Given the description of an element on the screen output the (x, y) to click on. 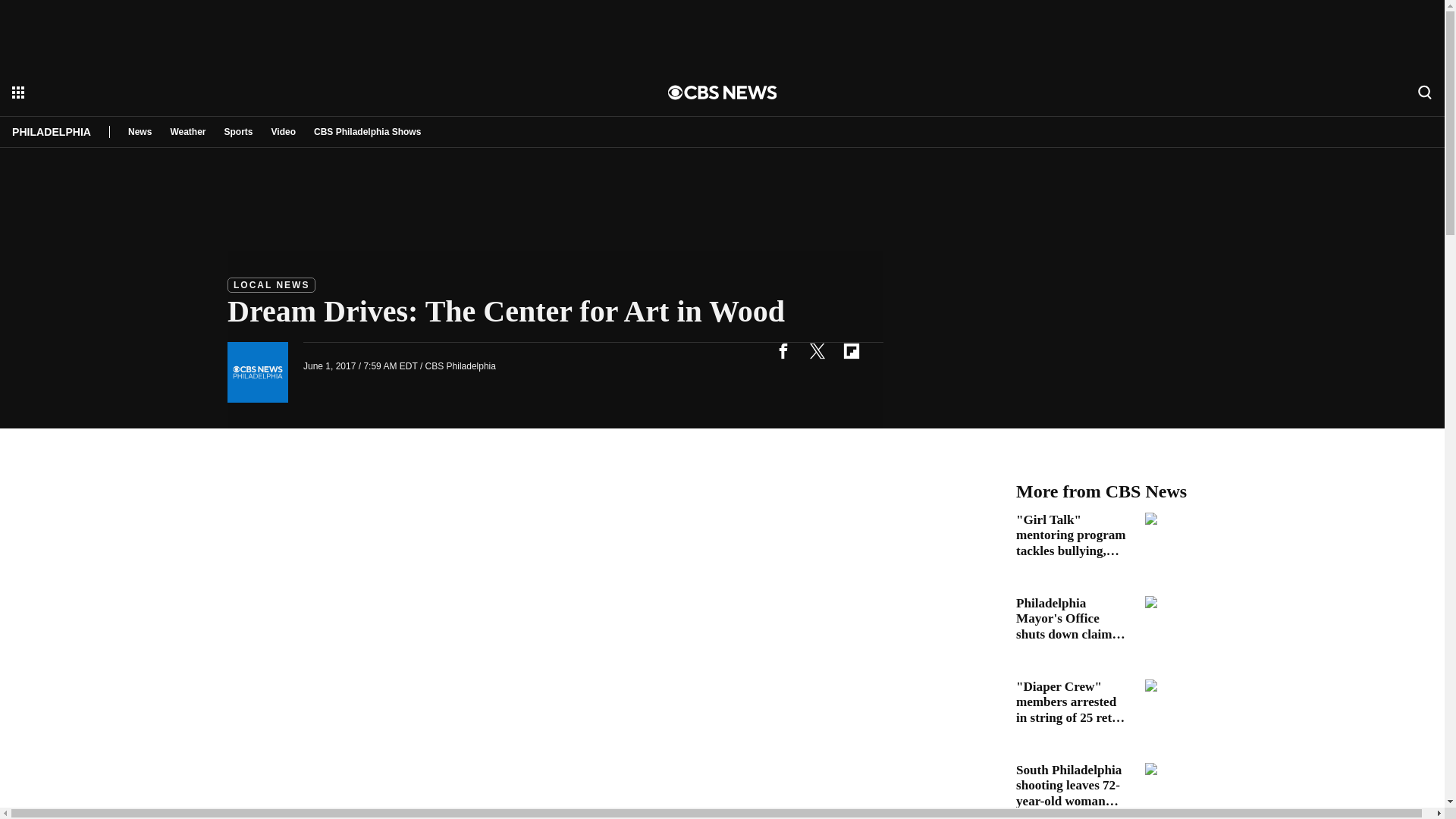
facebook (782, 350)
twitter (816, 350)
flipboard (850, 350)
